Given the description of an element on the screen output the (x, y) to click on. 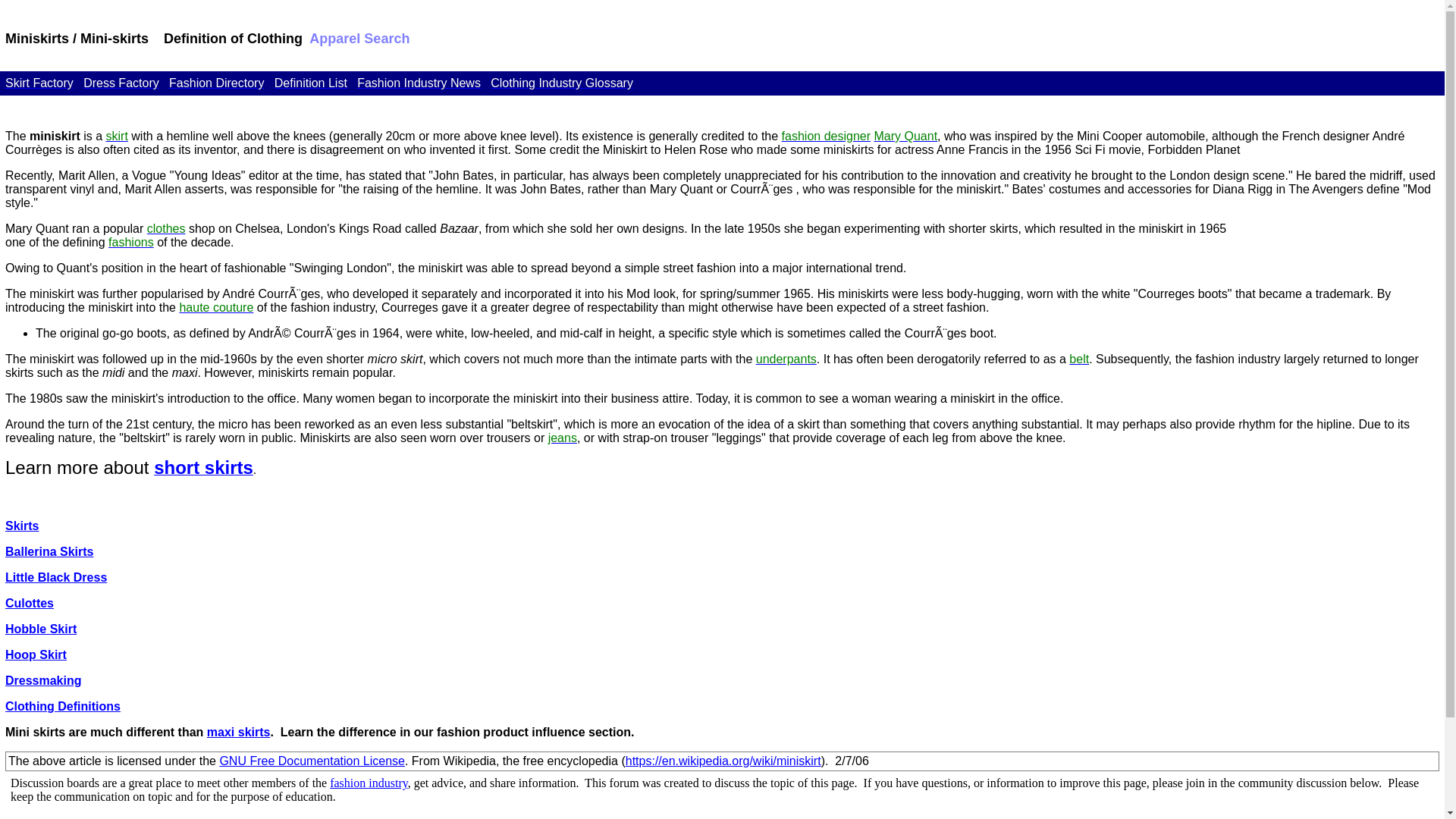
Fashion designer (825, 135)
Ballerina Skirts (49, 551)
Clothing Industry Glossary (561, 82)
underpants (785, 358)
Little Black Dress (55, 576)
Clothing Definitions (62, 706)
GNU Free Documentation License (311, 760)
Skirt Factory (39, 82)
Fashion Directory (215, 82)
Dress Factory (120, 82)
maxi skirts (238, 731)
Haute couture (216, 307)
Underpants (785, 358)
skirt (117, 135)
haute couture (216, 307)
